Given the description of an element on the screen output the (x, y) to click on. 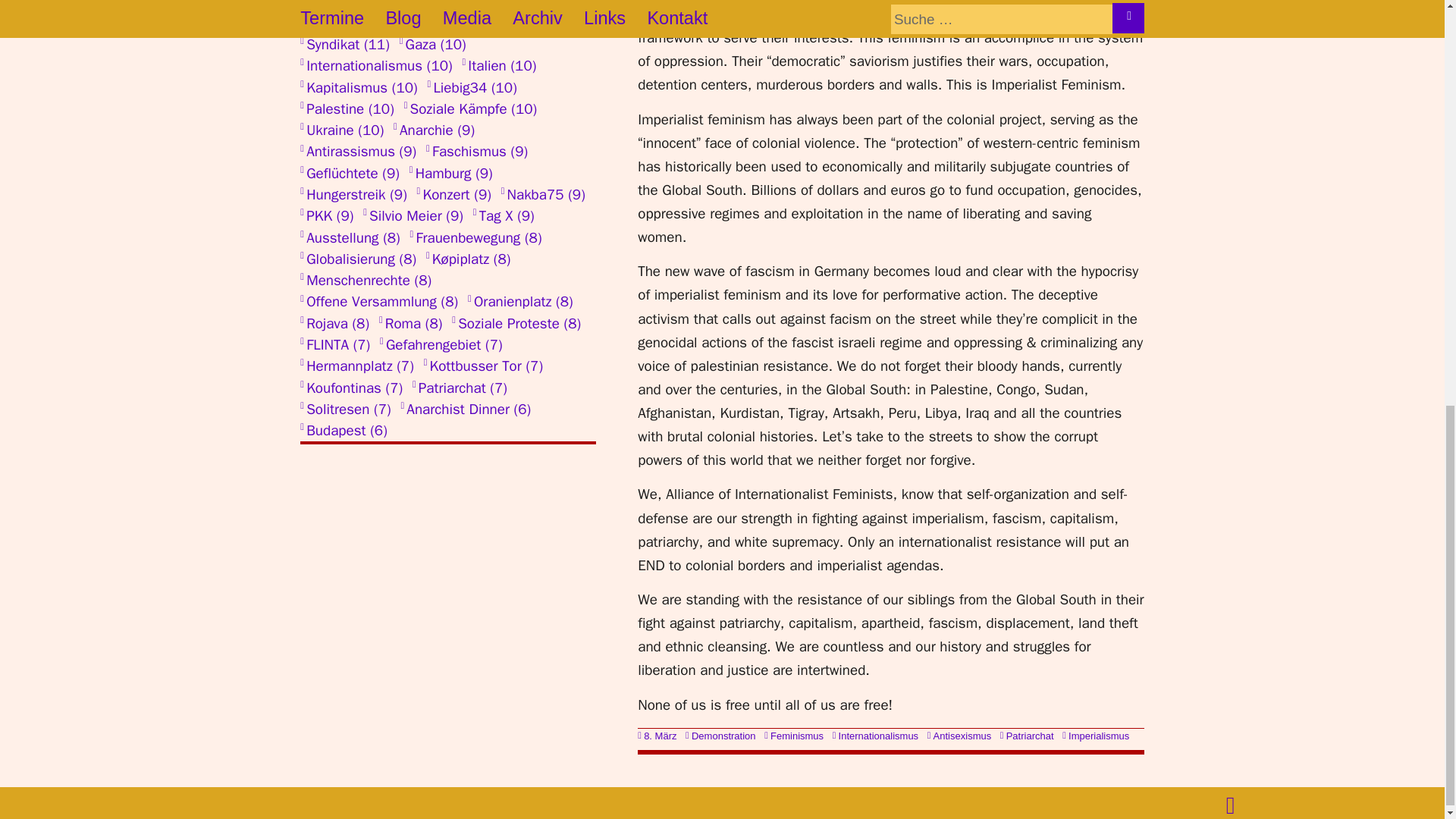
Internationalismus (875, 736)
Feminismus (794, 736)
Imperialismus (1095, 736)
Antisexismus (959, 736)
Patriarchat (1027, 736)
Demonstration (720, 736)
